Given the description of an element on the screen output the (x, y) to click on. 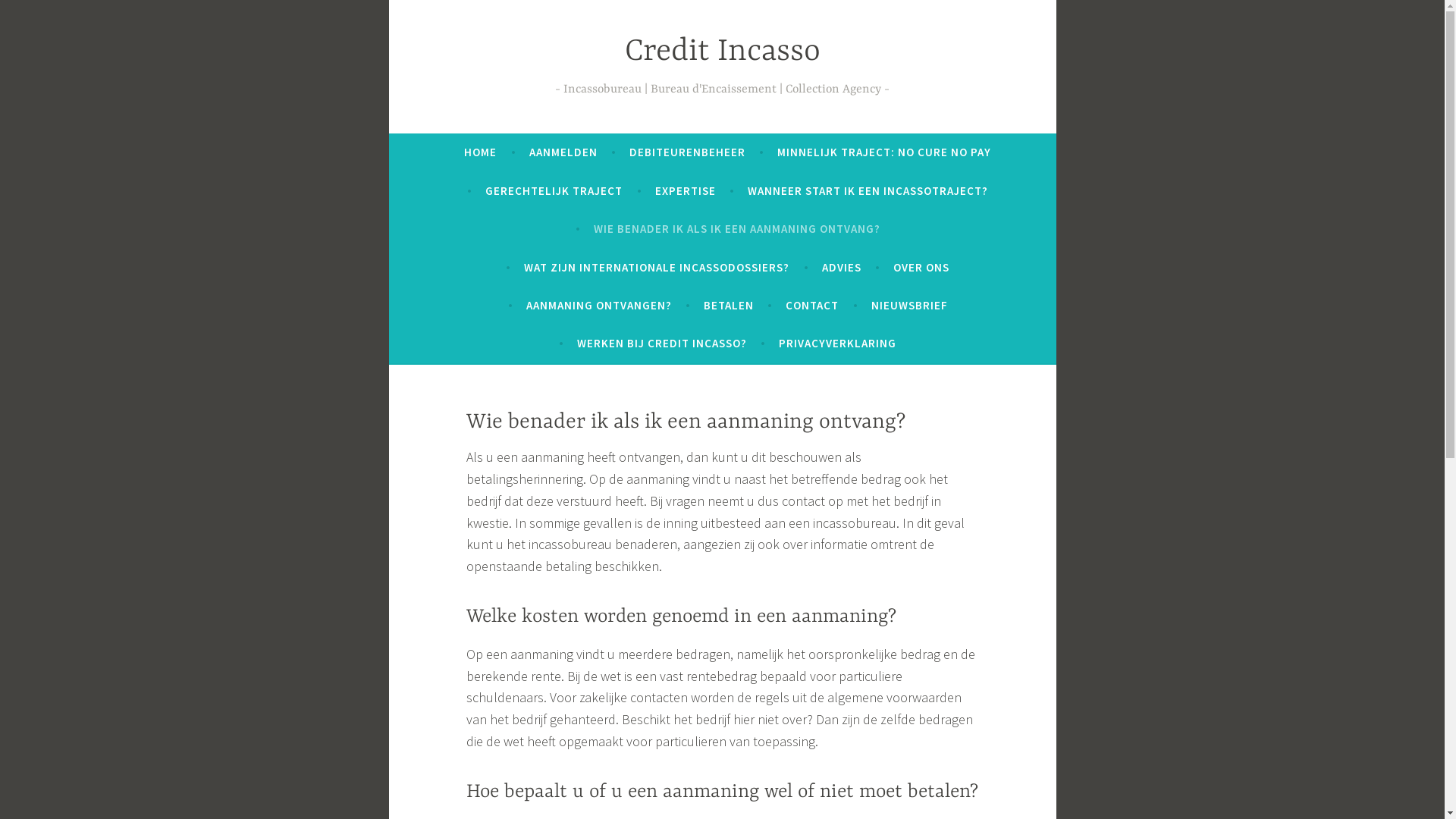
NIEUWSBRIEF Element type: text (909, 305)
BETALEN Element type: text (728, 305)
ADVIES Element type: text (841, 267)
WANNEER START IK EEN INCASSOTRAJECT? Element type: text (867, 190)
PRIVACYVERKLARING Element type: text (837, 343)
DEBITEURENBEHEER Element type: text (687, 152)
OVER ONS Element type: text (921, 267)
HOME Element type: text (480, 152)
AANMELDEN Element type: text (563, 152)
MINNELIJK TRAJECT: NO CURE NO PAY Element type: text (884, 152)
WERKEN BIJ CREDIT INCASSO? Element type: text (661, 343)
GERECHTELIJK TRAJECT Element type: text (553, 190)
Credit Incasso Element type: text (722, 51)
CONTACT Element type: text (811, 305)
AANMANING ONTVANGEN? Element type: text (598, 305)
WIE BENADER IK ALS IK EEN AANMANING ONTVANG? Element type: text (736, 228)
EXPERTISE Element type: text (685, 190)
WAT ZIJN INTERNATIONALE INCASSODOSSIERS? Element type: text (656, 267)
